Given the description of an element on the screen output the (x, y) to click on. 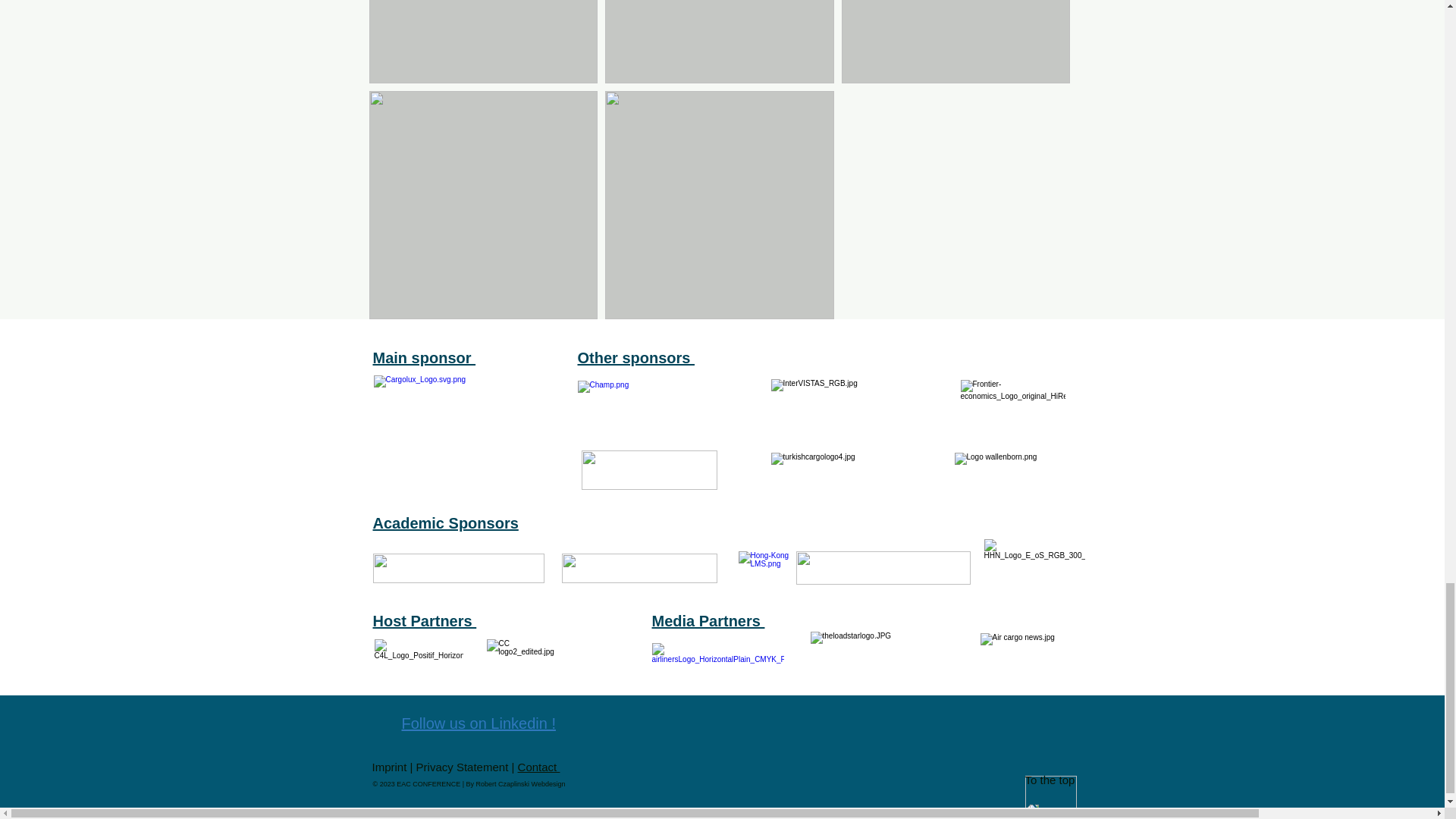
Privacy Statement (462, 766)
Hong-Kong polyt Uni.png (883, 567)
GARS.png (648, 469)
Uni Mississippi.png (638, 568)
Imprint (390, 766)
Contact  (539, 766)
Follow us on Linkedin ! (478, 723)
